Given the description of an element on the screen output the (x, y) to click on. 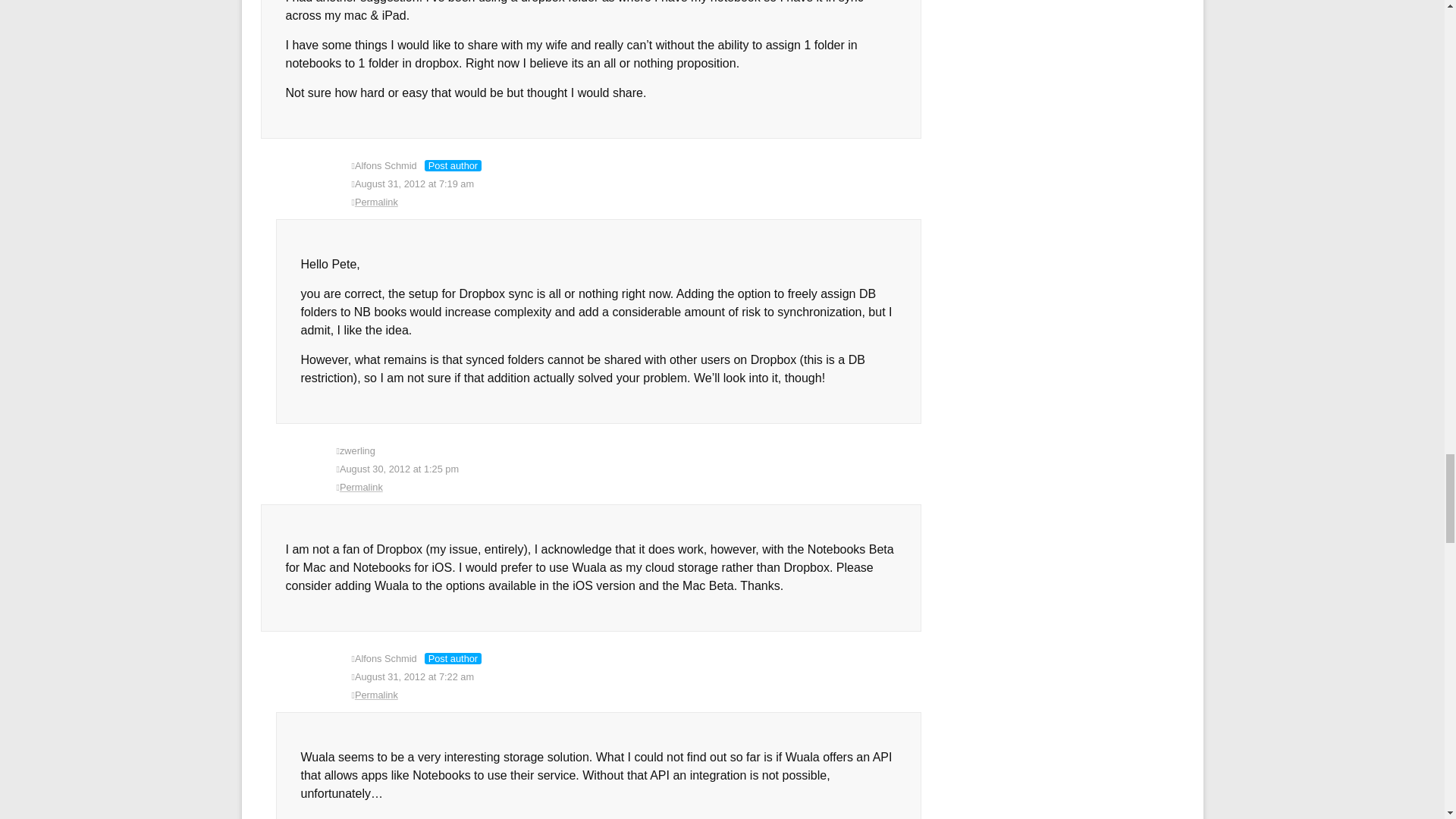
Permalink (636, 695)
Permalink (636, 202)
Permalink (628, 487)
